Given the description of an element on the screen output the (x, y) to click on. 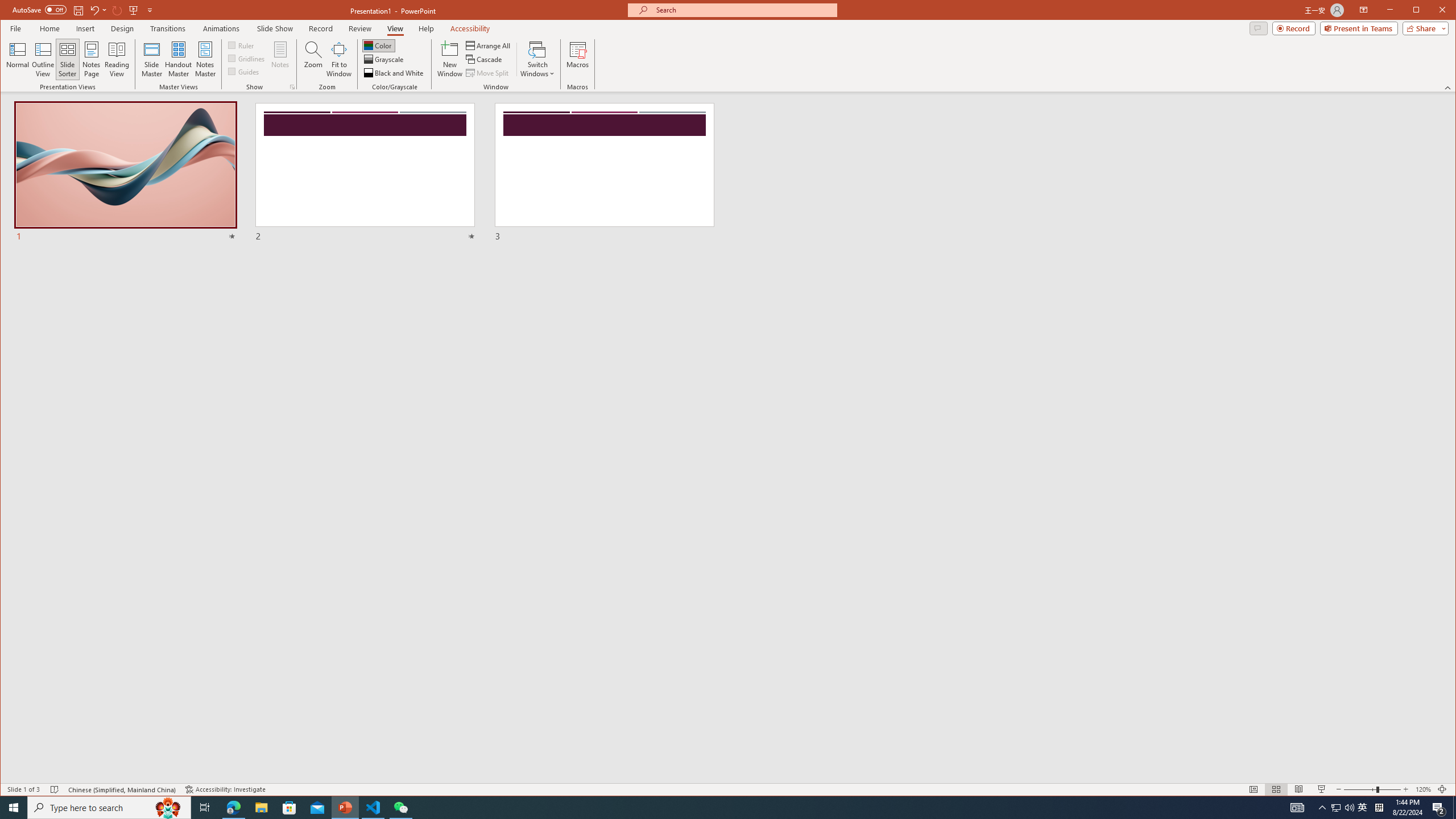
Color (378, 45)
Zoom 120% (1422, 789)
Ruler (241, 44)
New Window (450, 59)
